Given the description of an element on the screen output the (x, y) to click on. 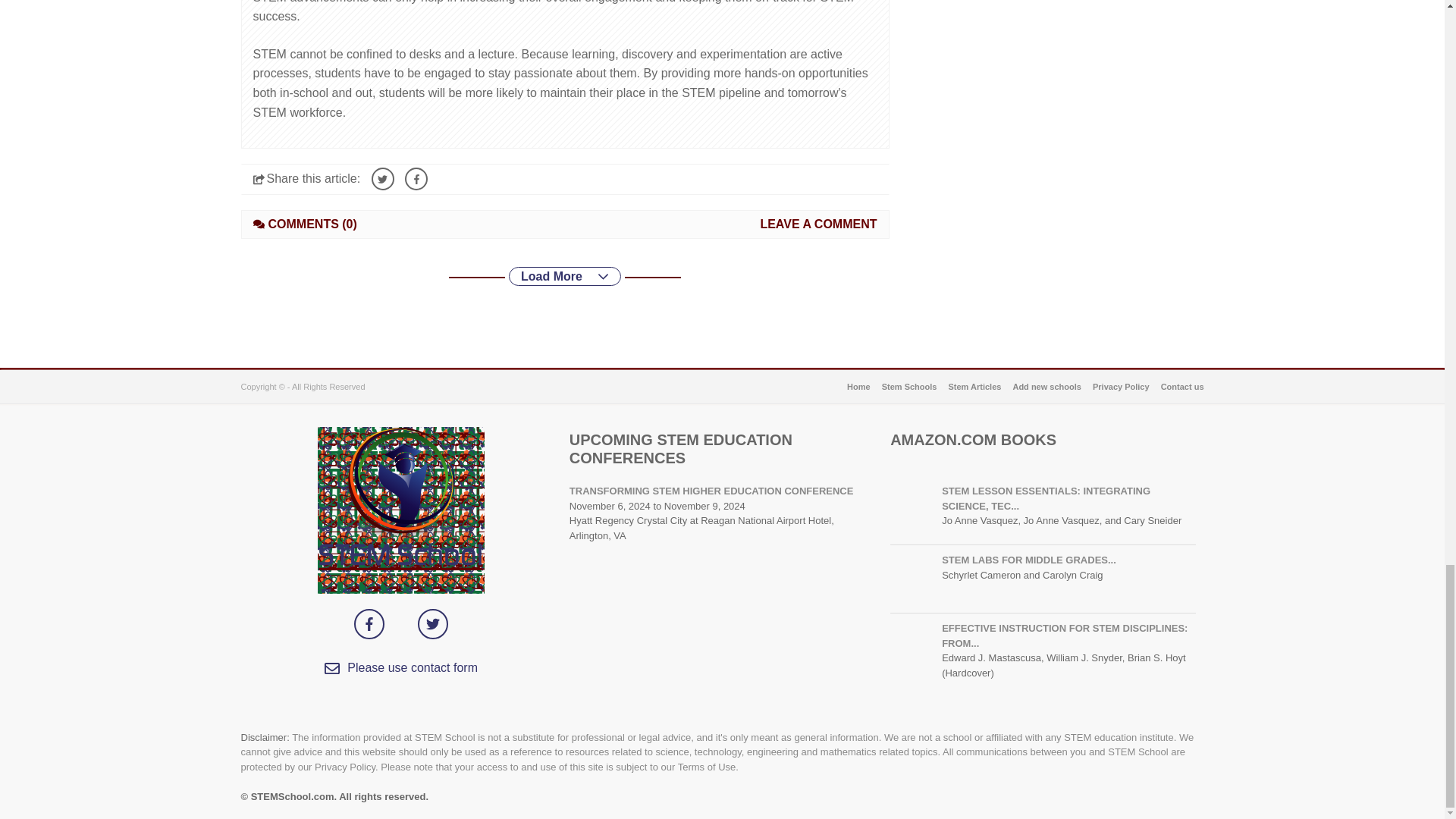
Load More (564, 275)
LEAVE A COMMENT (818, 223)
